Given the description of an element on the screen output the (x, y) to click on. 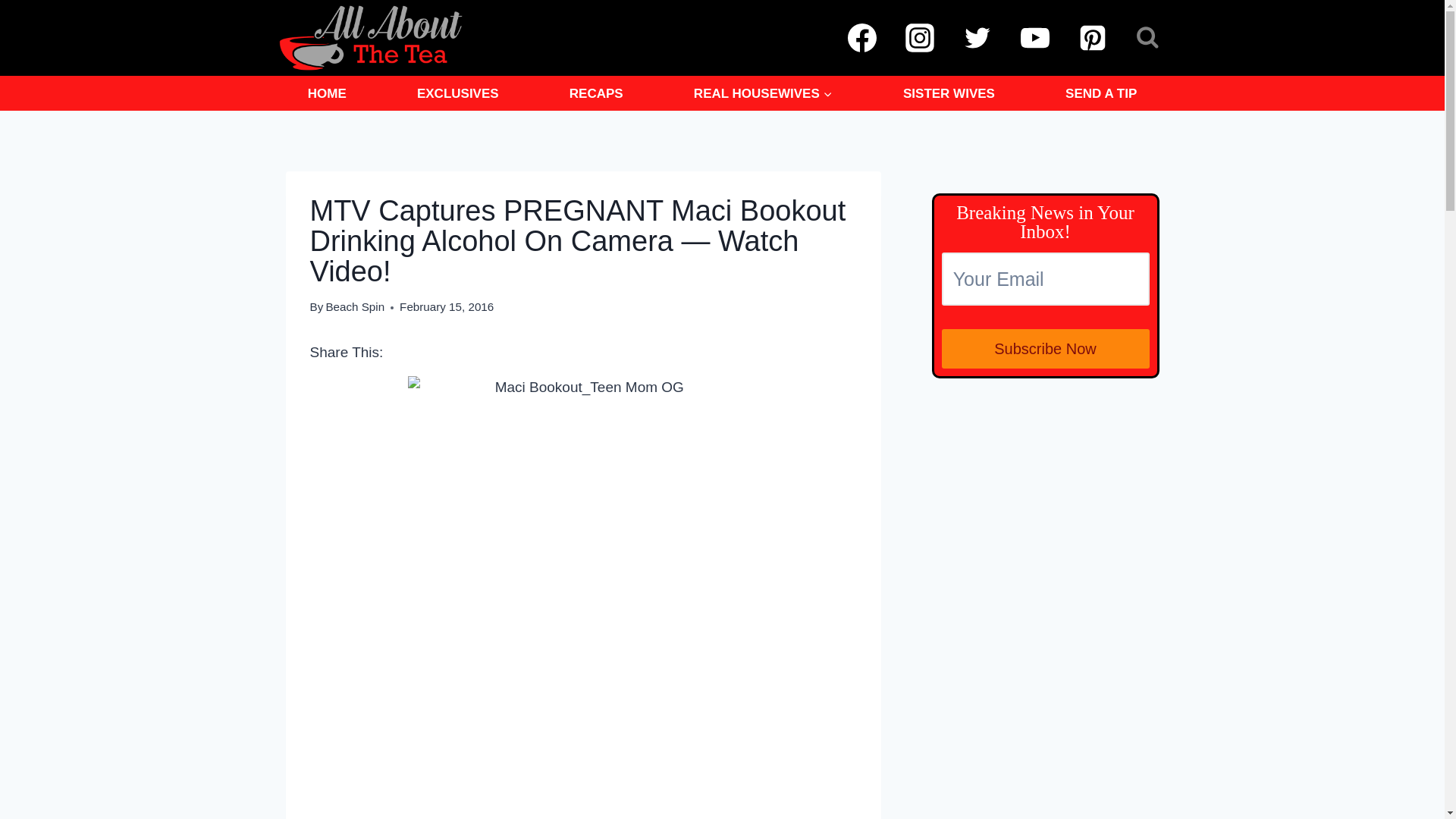
REAL HOUSEWIVES (762, 93)
EXCLUSIVES (457, 93)
HOME (326, 93)
SEND A TIP (1100, 93)
SISTER WIVES (948, 93)
RECAPS (596, 93)
Beach Spin (354, 306)
